Given the description of an element on the screen output the (x, y) to click on. 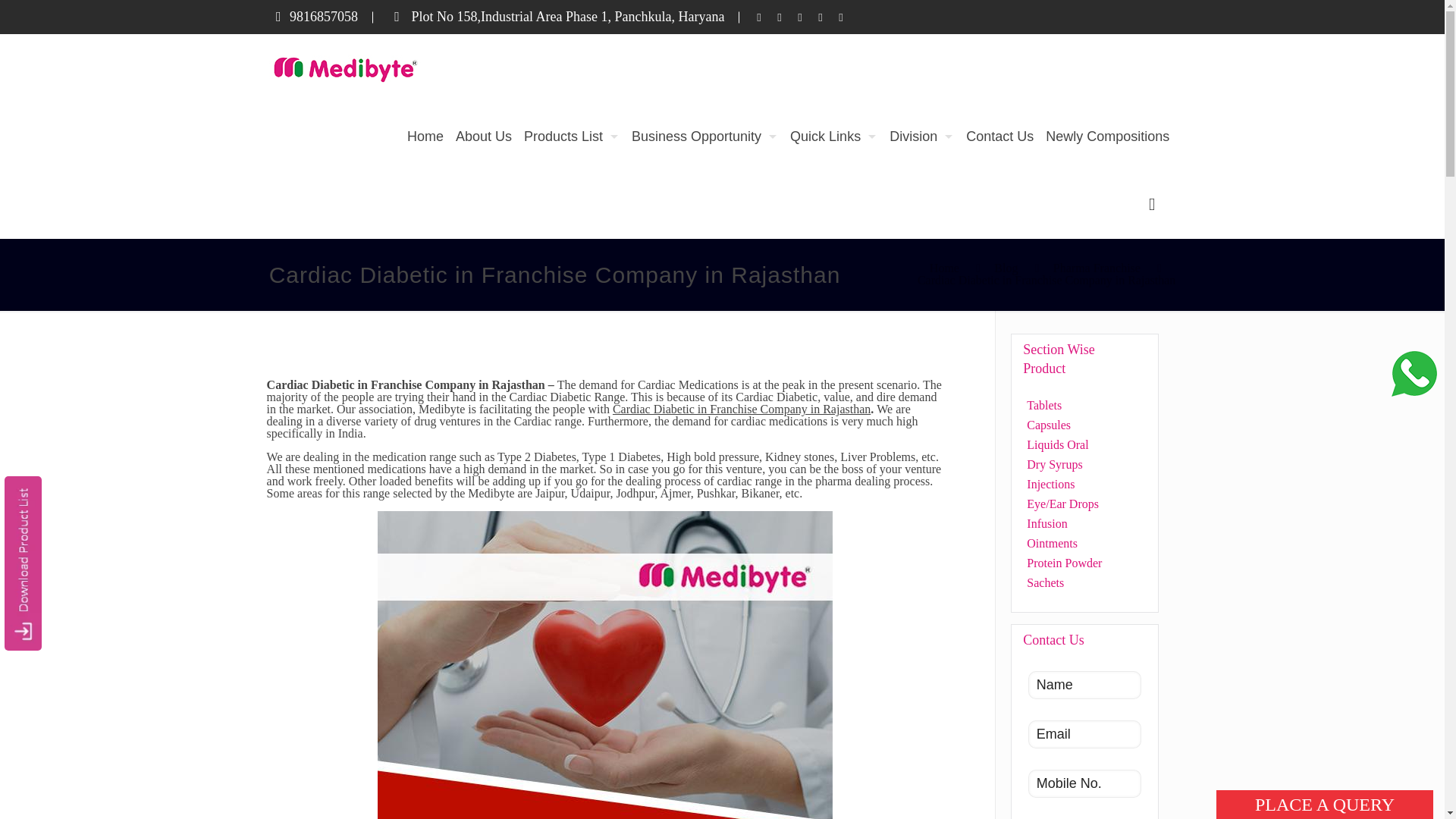
Facebook (759, 17)
Pinterest (820, 17)
About Us (483, 136)
Tumblr (840, 17)
LinkedIn (800, 17)
Products List (572, 136)
Twitter (779, 17)
